Given the description of an element on the screen output the (x, y) to click on. 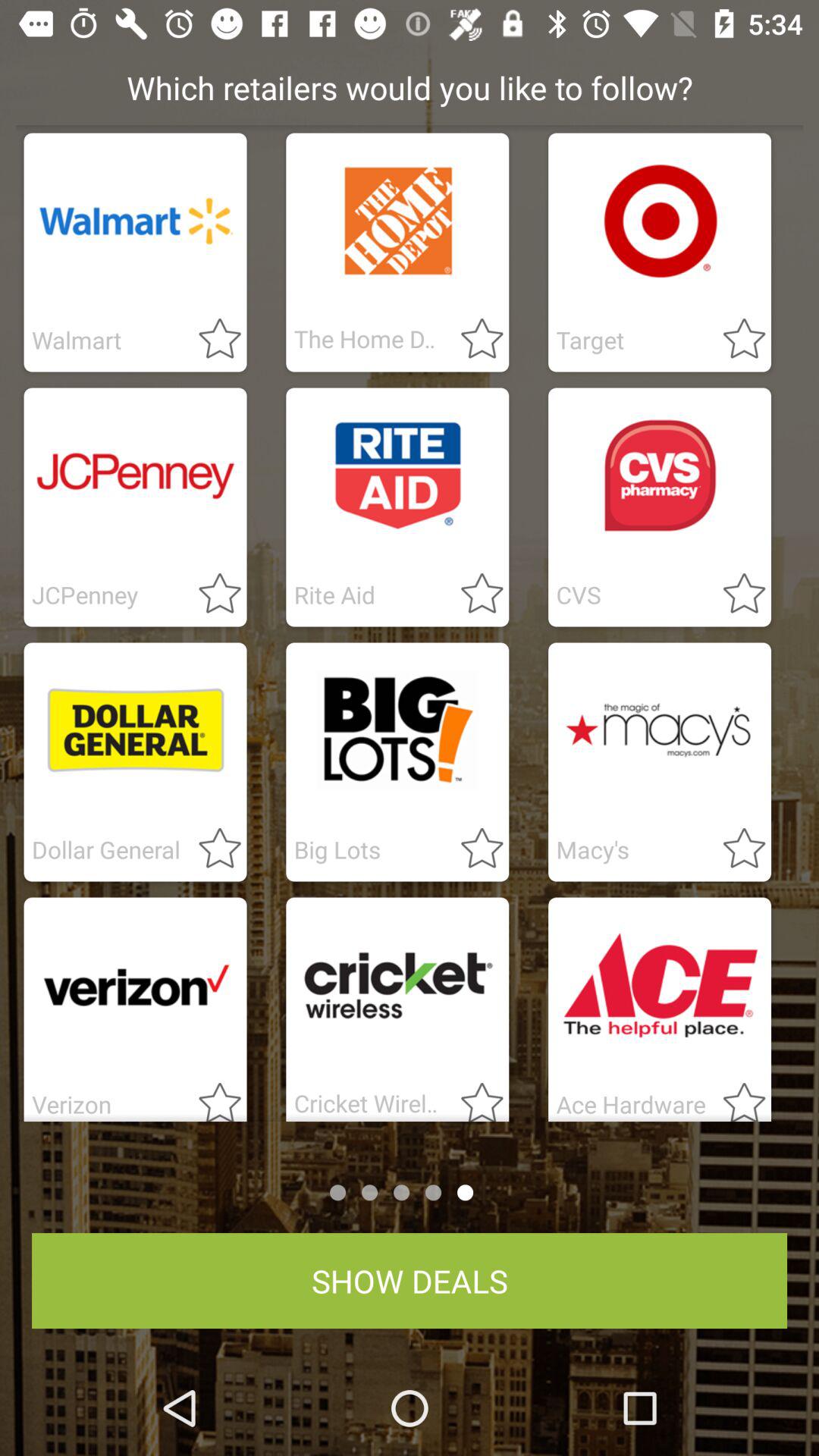
peoples review (473, 1096)
